Given the description of an element on the screen output the (x, y) to click on. 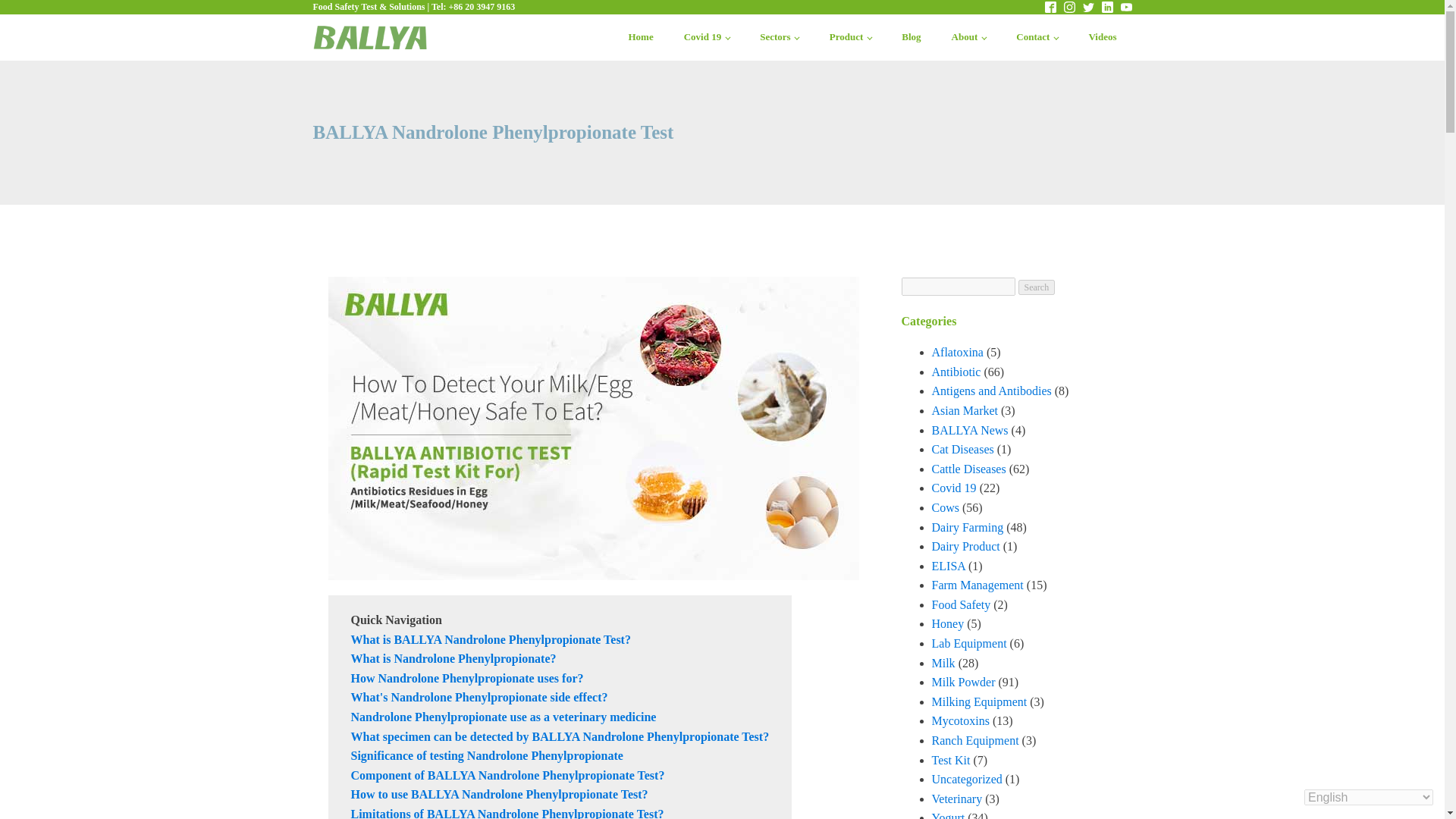
Blog (911, 37)
Contact (1037, 37)
Search (1035, 287)
Home (640, 37)
Sectors (778, 37)
Covid 19 (706, 37)
Product (849, 37)
About (968, 37)
